Given the description of an element on the screen output the (x, y) to click on. 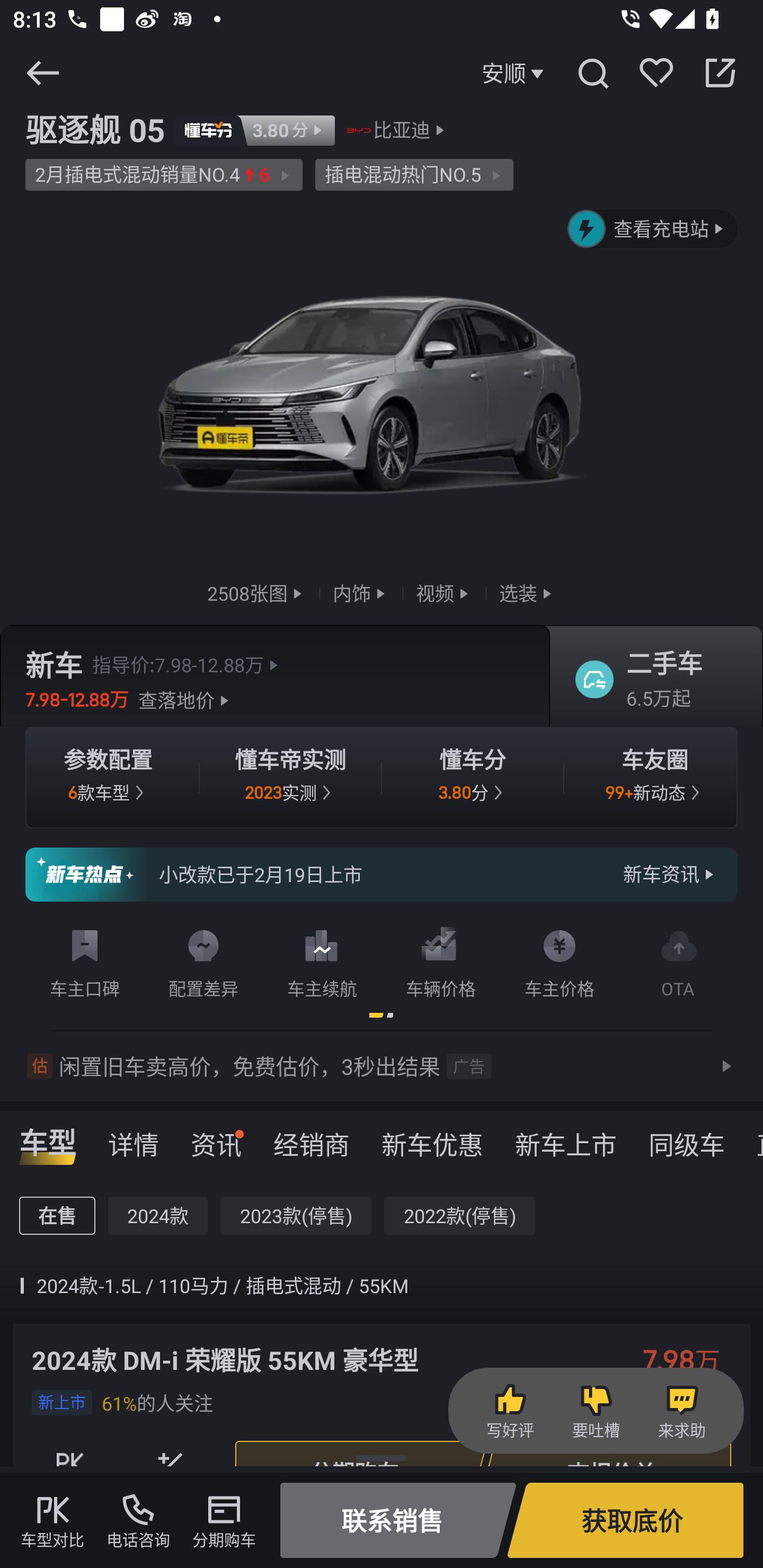
 (42, 72)
 (592, 72)
 (720, 72)
安顺 (514, 73)
比亚迪 (401, 130)
2月插电式混动销量NO.46  (163, 174)
插电混动热门NO.5  (414, 174)
查看充电站  (652, 228)
2508张图 (256, 592)
内饰 (360, 592)
视频 (444, 592)
选装 (527, 592)
二手车 6.5万起 (650, 679)
指导价:7.98-12.88万 (187, 664)
查落地价 (185, 699)
参数配置 6 款车型  (107, 777)
懂车帝实测 2023 实测  (290, 777)
懂车分 3.80 分  (472, 777)
车友圈 99+ 新动态  (654, 777)
小改款已于2月19日上市 新车资讯 (381, 874)
车主口碑 (84, 960)
配置差异 (203, 960)
车主续航 (321, 960)
车辆价格 (440, 960)
车主价格 (559, 960)
OTA (677, 960)
估 闲置旧车卖高价，免费估价，3秒出结果 广告  (381, 1065)
车型 (47, 1138)
详情 (133, 1138)
资讯 (215, 1138)
经销商 (311, 1138)
新车优惠 (431, 1138)
新车上市 (565, 1138)
同级车 (686, 1138)
在售 (57, 1215)
2024款 (157, 1215)
2023款(停售) (295, 1215)
2022款(停售) (458, 1215)
7.98 万 (690, 1359)
写好评 (510, 1410)
要吐槽 (595, 1410)
来求助 (681, 1410)
车型对比 (52, 1520)
电话咨询 (138, 1520)
分期购车 (224, 1520)
联系销售 (398, 1519)
获取底价 (625, 1519)
